Given the description of an element on the screen output the (x, y) to click on. 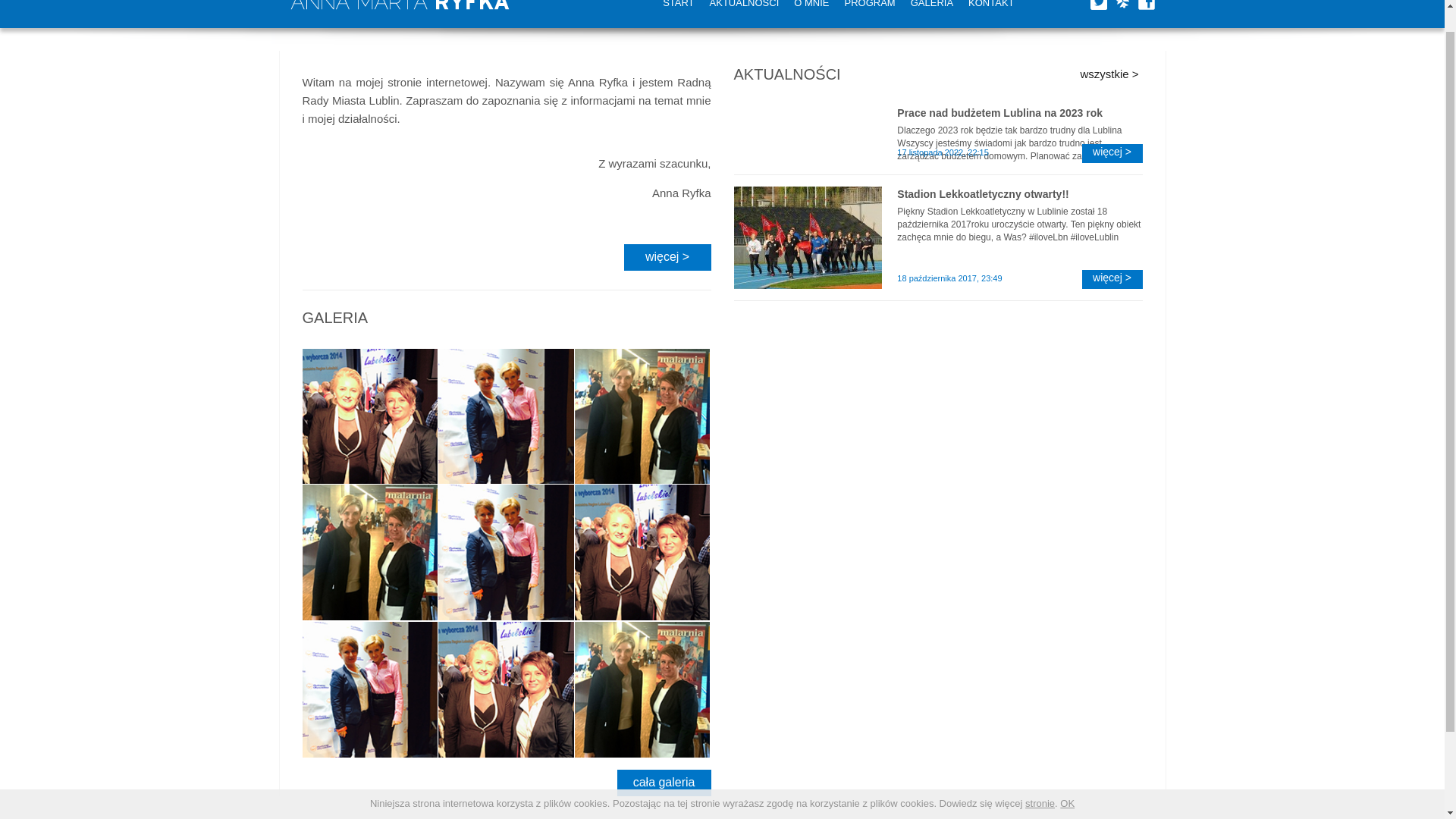
stronie (1039, 778)
PROGRAM (869, 14)
GALERIA (931, 14)
KONTAKT (991, 14)
Stadion Lekkoatletyczny otwarty!! (1018, 193)
O MNIE (810, 14)
START (678, 14)
OK (1066, 778)
